Given the description of an element on the screen output the (x, y) to click on. 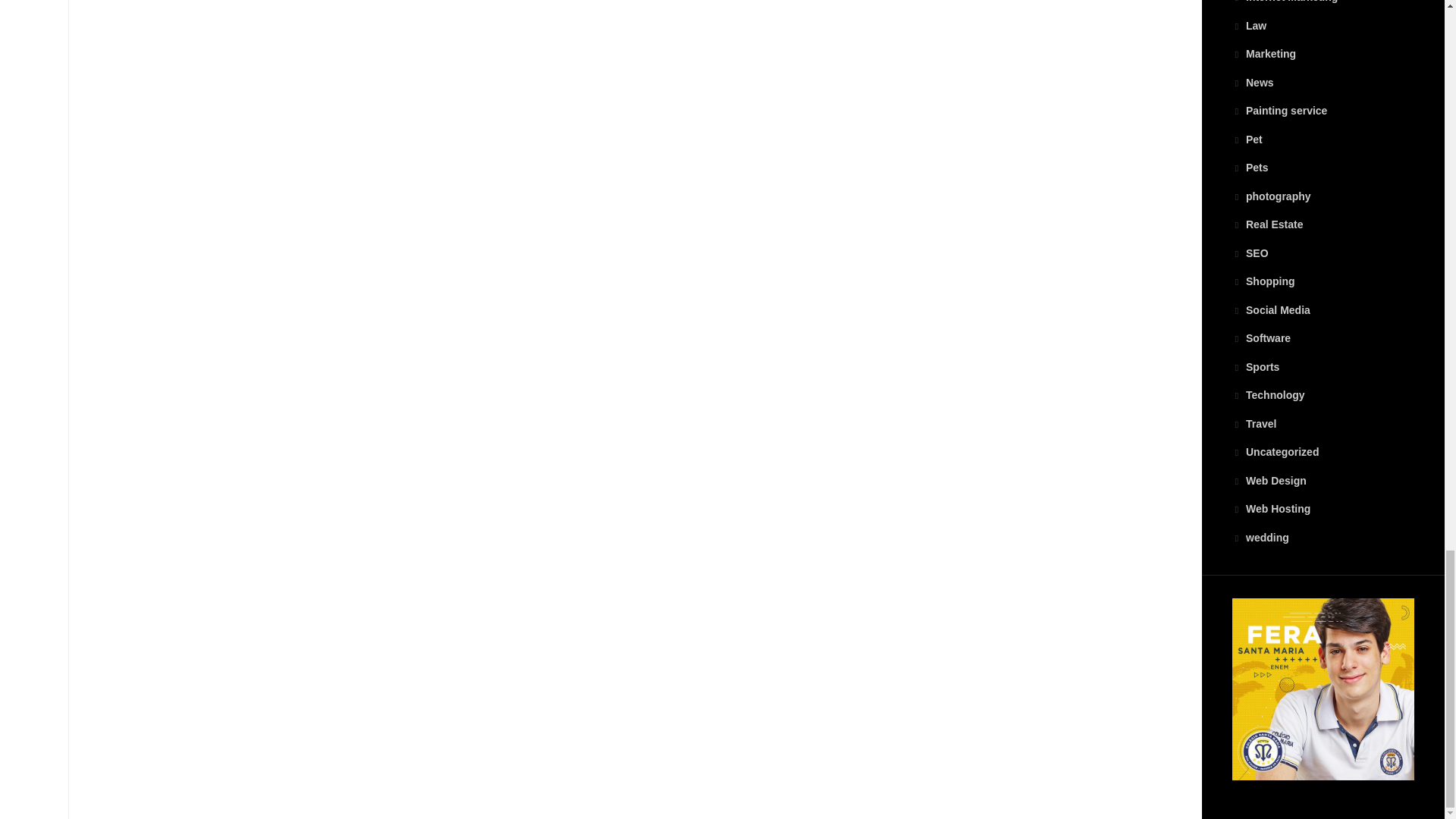
Law (1248, 25)
Internet Marketing (1284, 1)
